Given the description of an element on the screen output the (x, y) to click on. 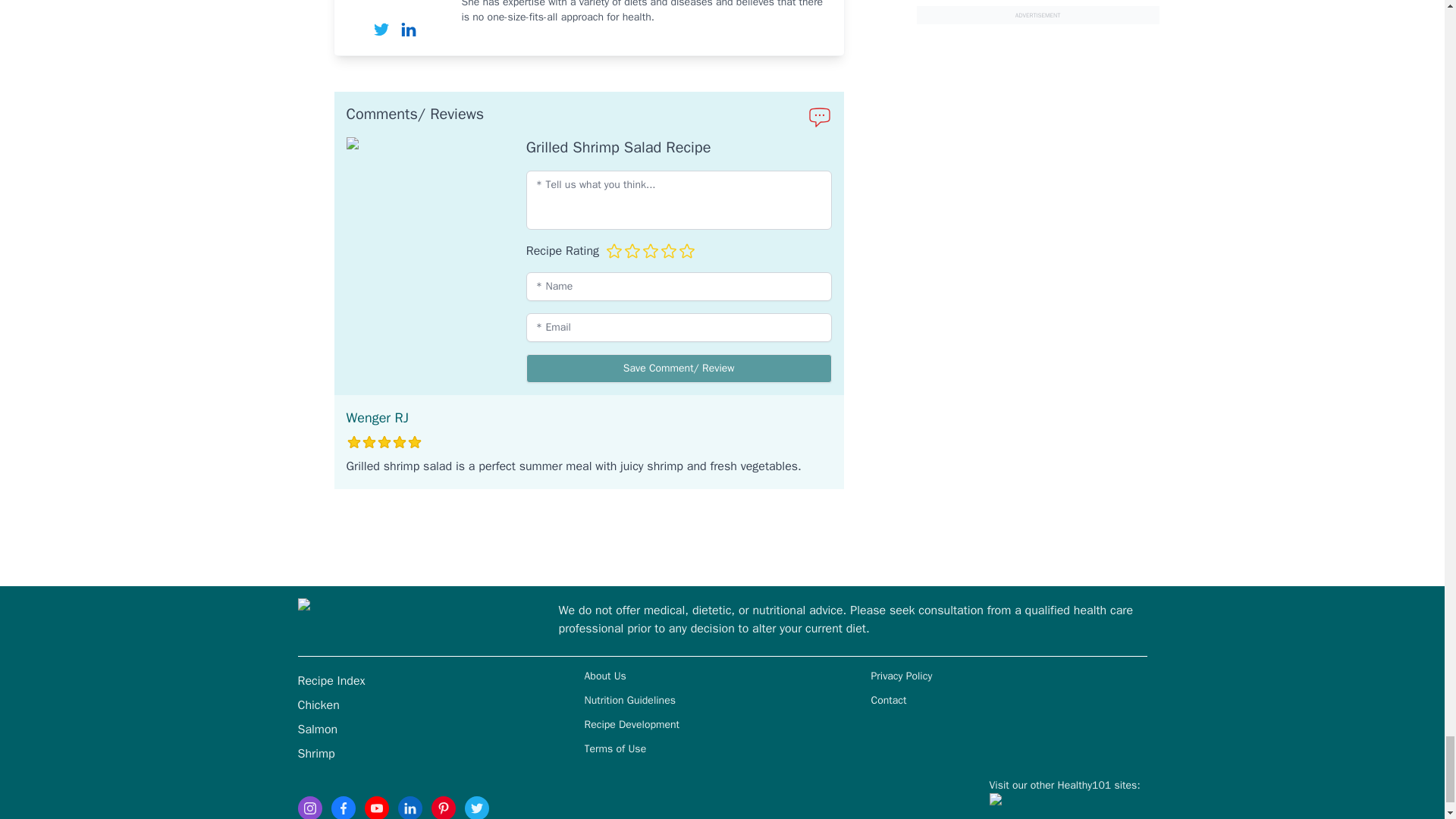
twitter Natalie Butler, RD, LD (380, 29)
linkedIn Natalie Butler, RD, LD (408, 29)
